Given the description of an element on the screen output the (x, y) to click on. 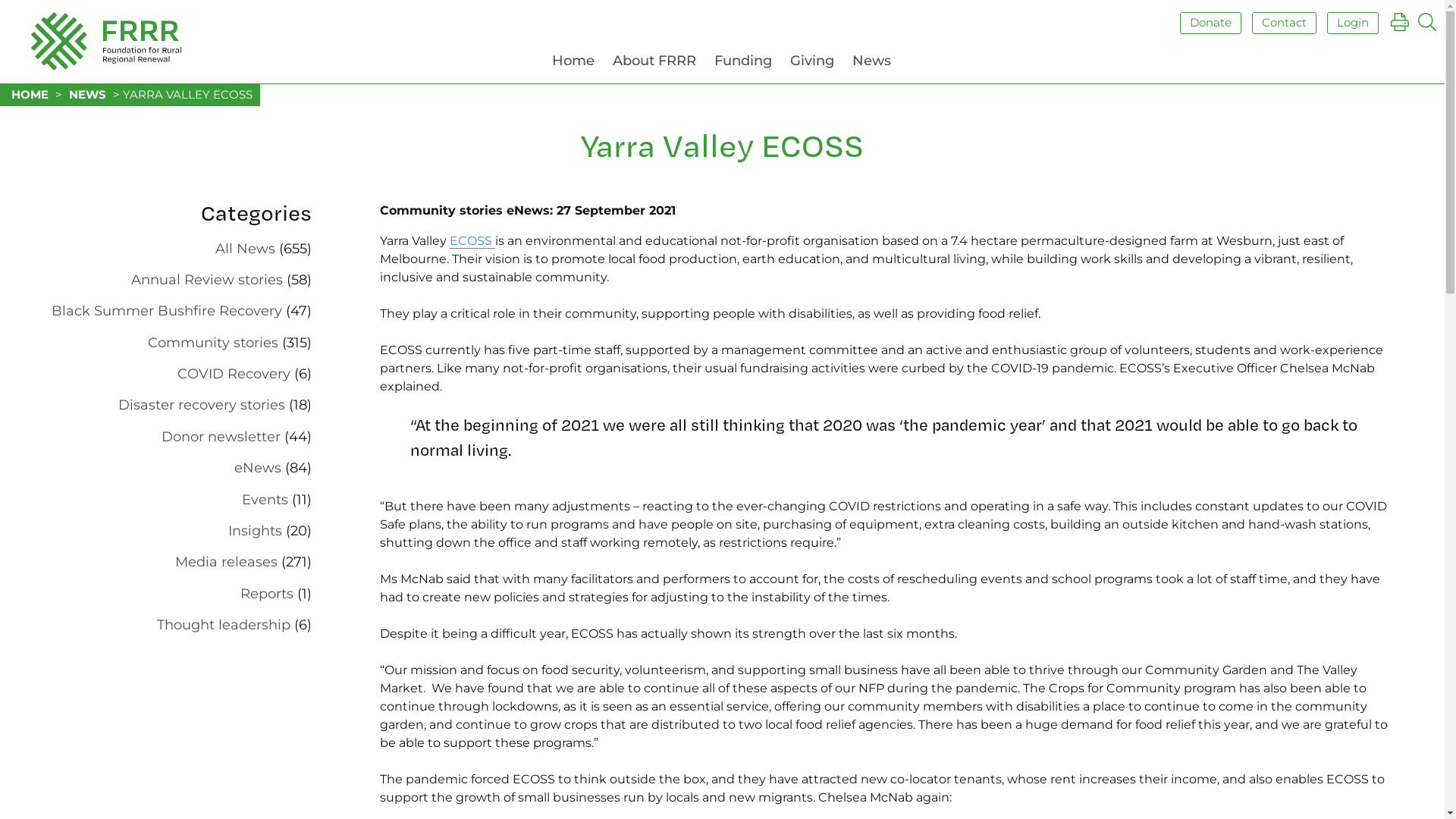
Events Element type: text (264, 499)
Thought leadership Element type: text (223, 624)
eNews Element type: text (257, 467)
Contact Element type: text (1284, 23)
Donate Element type: text (1210, 23)
ECOSS Element type: text (472, 240)
Giving Element type: text (811, 64)
Media releases Element type: text (226, 561)
Insights Element type: text (255, 530)
Funding Element type: text (742, 64)
Home Element type: text (573, 64)
News Element type: text (871, 64)
COVID Recovery Element type: text (233, 373)
HOME Element type: text (29, 94)
Annual Review stories Element type: text (206, 279)
Login Element type: text (1352, 23)
Community stories Element type: text (212, 342)
Donor newsletter Element type: text (220, 436)
About FRRR Element type: text (654, 64)
Black Summer Bushfire Recovery Element type: text (166, 310)
All News Element type: text (245, 248)
NEWS Element type: text (87, 94)
Disaster recovery stories Element type: text (201, 404)
Reports Element type: text (266, 593)
